Given the description of an element on the screen output the (x, y) to click on. 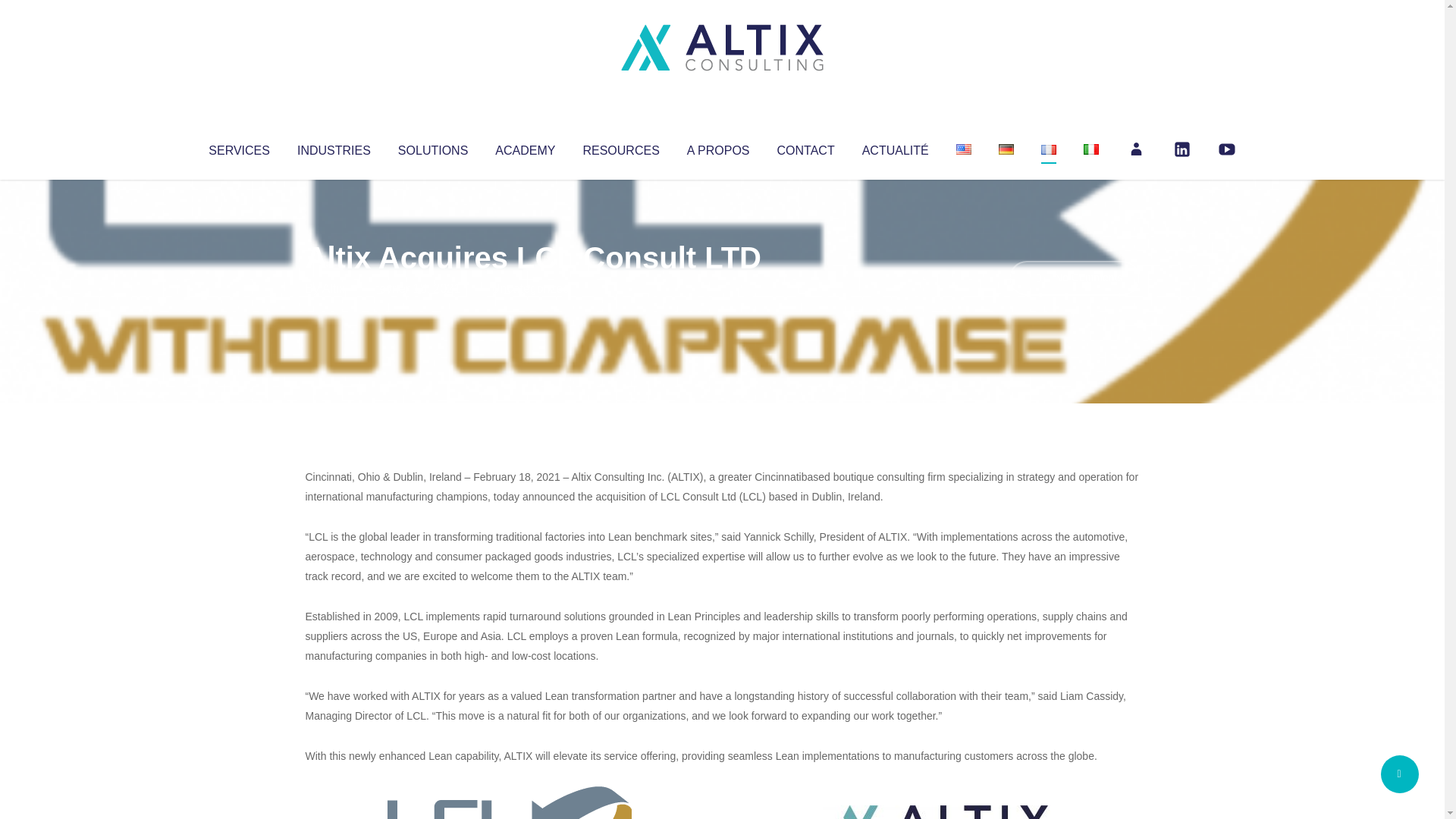
A PROPOS (718, 146)
No Comments (1073, 278)
Uncategorized (530, 287)
INDUSTRIES (334, 146)
ACADEMY (524, 146)
SOLUTIONS (432, 146)
Articles par Altix (333, 287)
RESOURCES (620, 146)
SERVICES (238, 146)
Altix (333, 287)
